Given the description of an element on the screen output the (x, y) to click on. 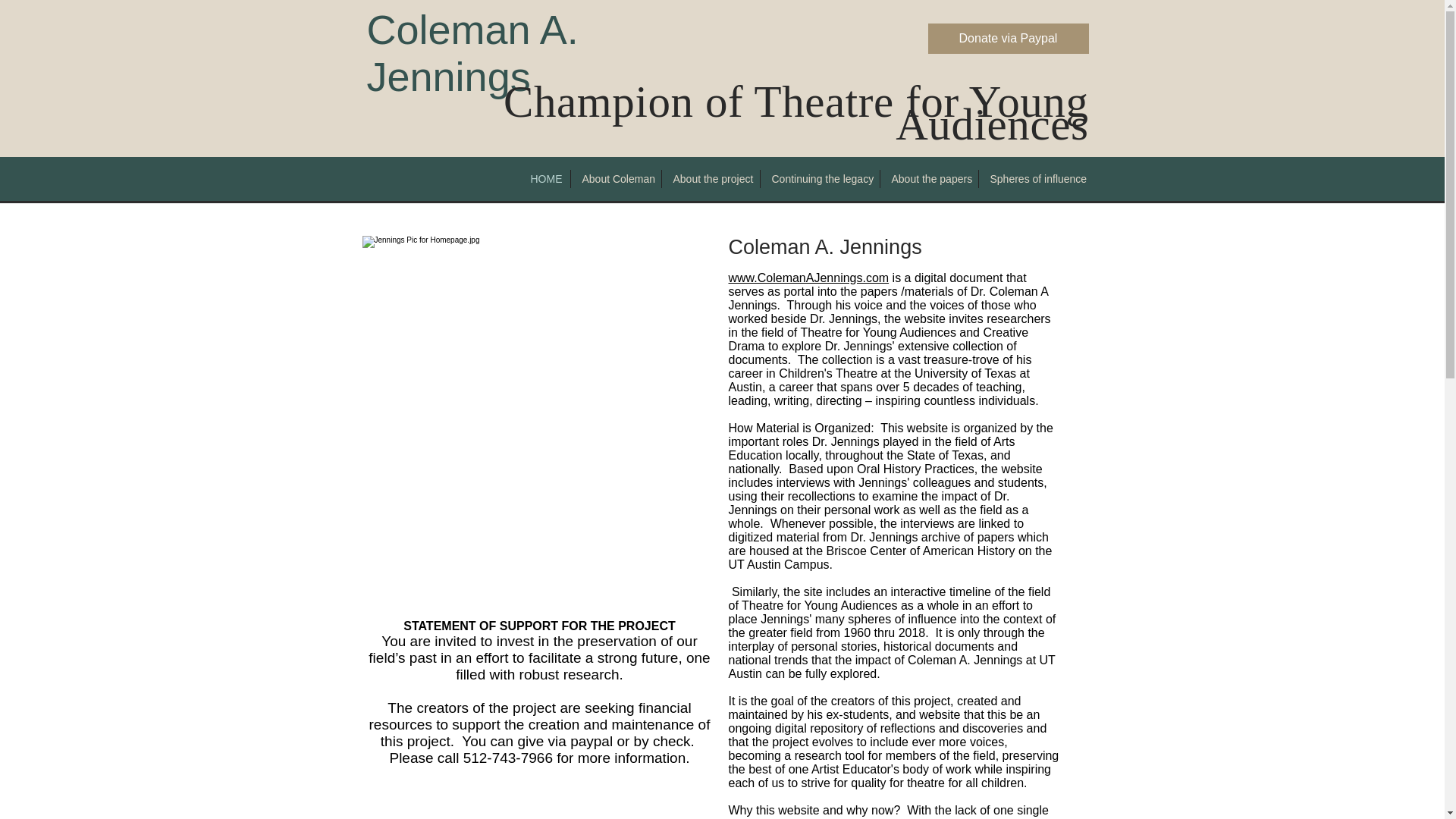
www.ColemanAJennings.com (808, 277)
HOME (543, 178)
Donate via Paypal (1008, 38)
About Coleman (615, 178)
Continuing the legacy (819, 178)
About the papers (927, 178)
About the project (709, 178)
